Given the description of an element on the screen output the (x, y) to click on. 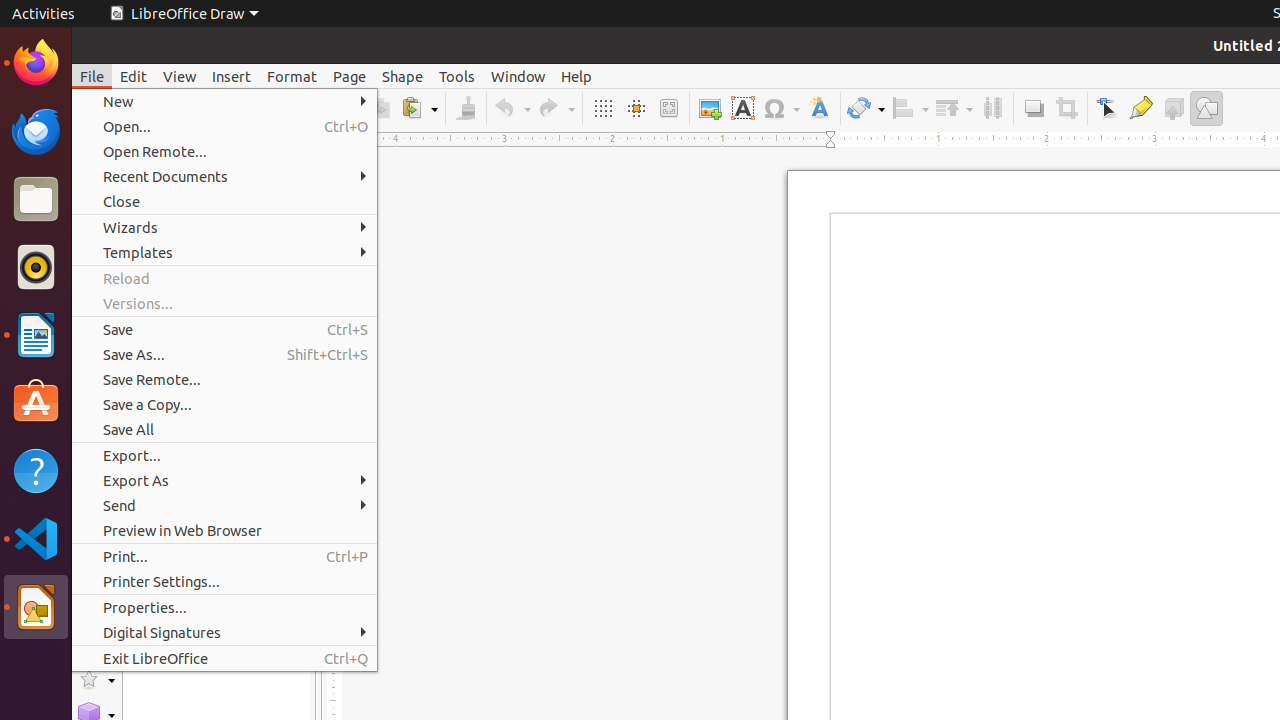
Symbol Element type: push-button (781, 108)
Paste Element type: push-button (419, 108)
Transformations Element type: push-button (866, 108)
Arrange Element type: push-button (954, 108)
Shape Element type: menu (402, 76)
